Given the description of an element on the screen output the (x, y) to click on. 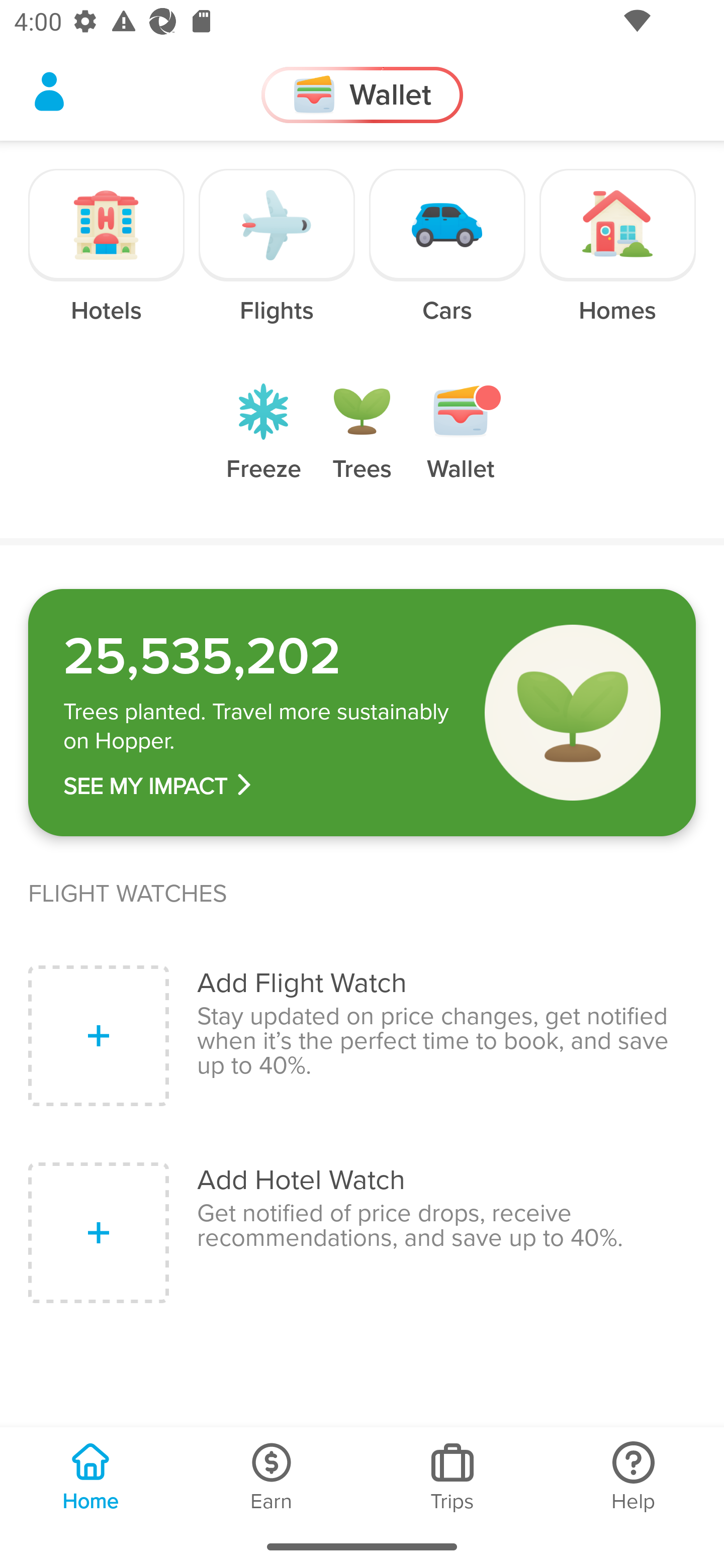
‍Wallet (362, 95)
Hotels (106, 260)
Flights (276, 260)
Cars (447, 260)
Homes (617, 260)
Freeze (263, 446)
Trees (361, 446)
Wallet (460, 446)
‍25,535,202 (259, 656)
‍Trees planted. Travel more sustainably on Hopper. (259, 726)
‍SEE MY IMPACT ​ (259, 786)
Earn (271, 1475)
Trips (452, 1475)
Help (633, 1475)
